Given the description of an element on the screen output the (x, y) to click on. 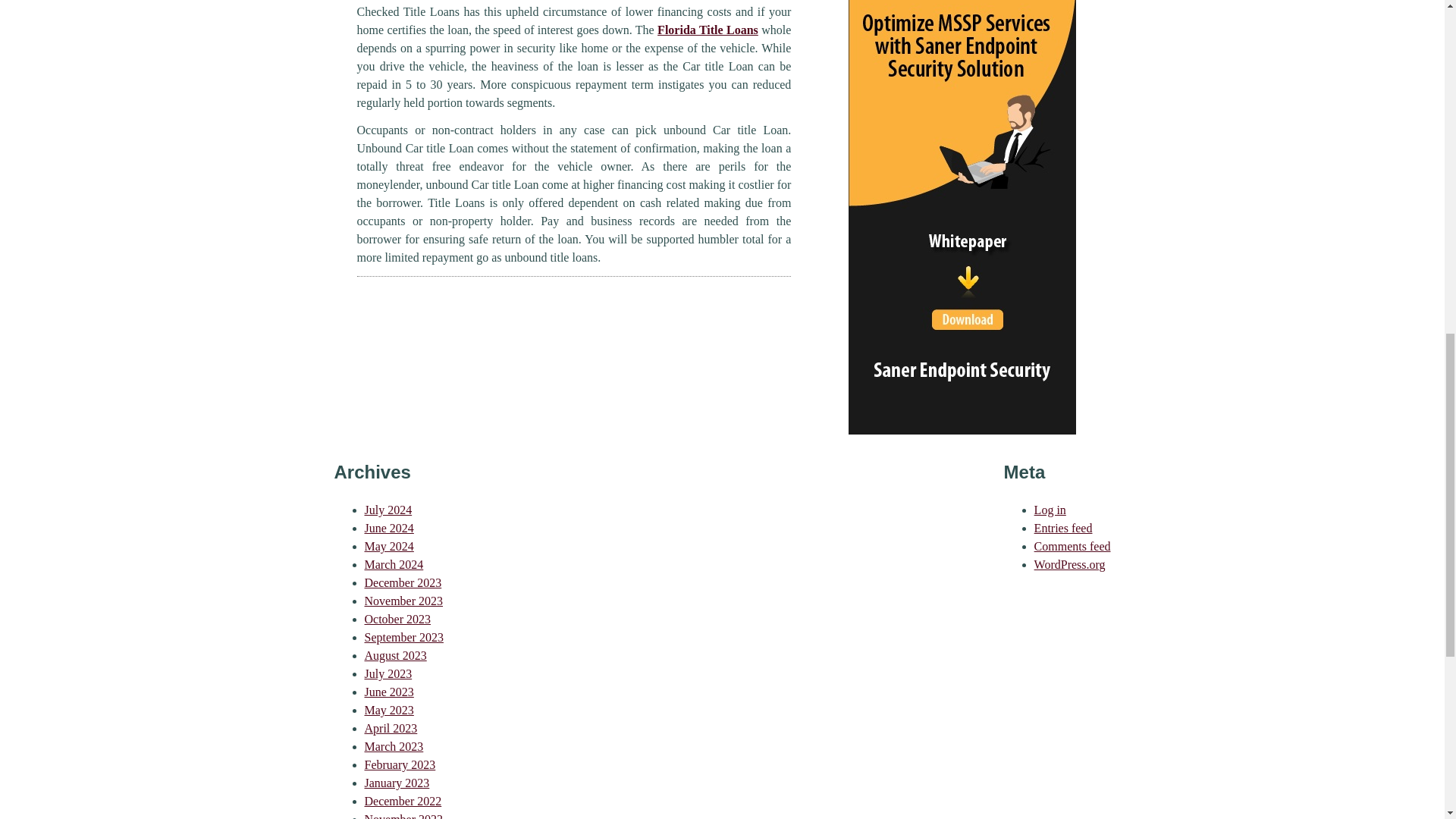
September 2023 (403, 636)
Florida Title Loans (708, 29)
October 2023 (397, 618)
December 2023 (402, 582)
November 2023 (403, 600)
August 2023 (395, 655)
May 2024 (388, 545)
March 2024 (393, 563)
June 2024 (388, 527)
July 2024 (388, 509)
